Given the description of an element on the screen output the (x, y) to click on. 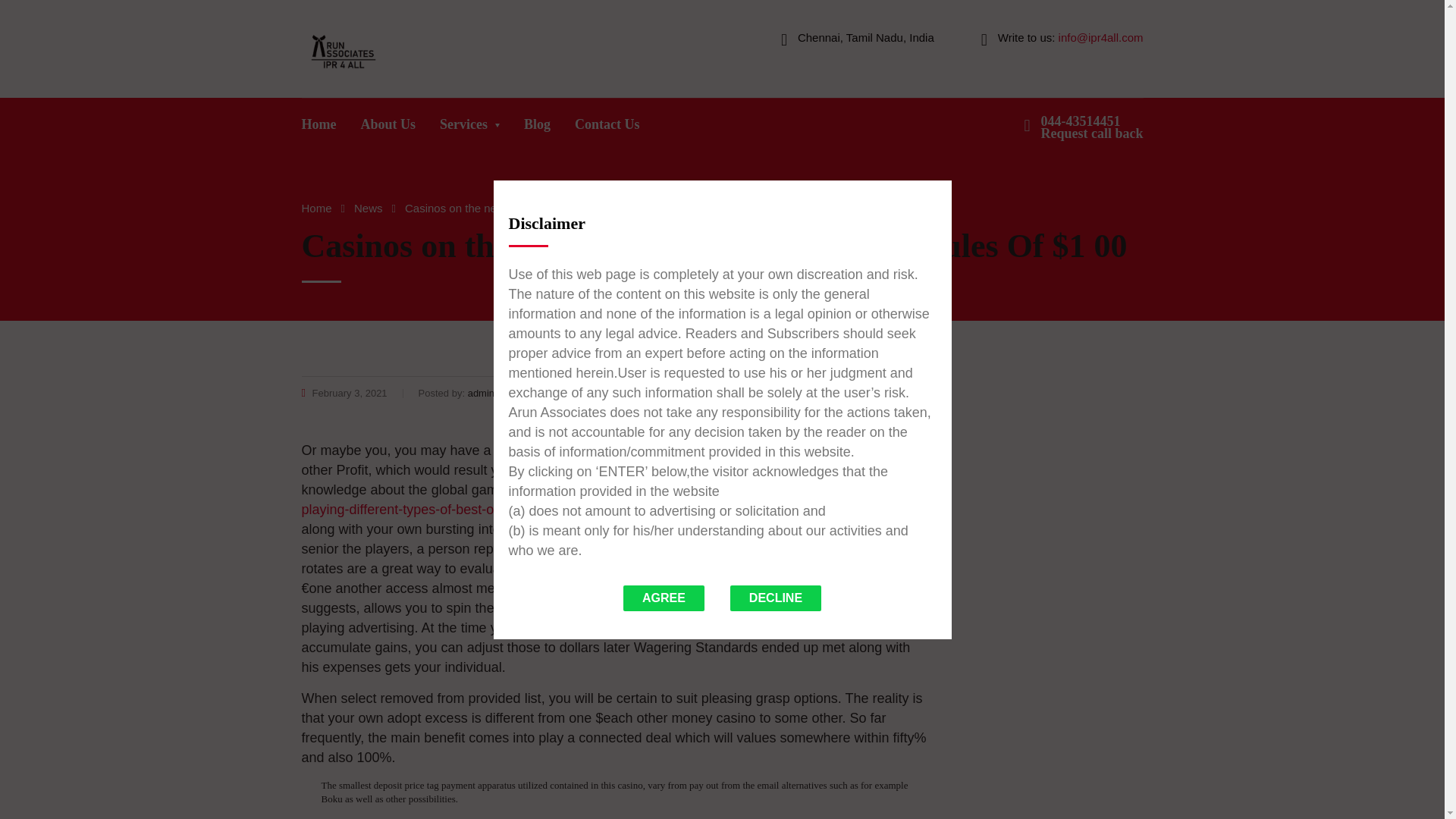
Contact Us (607, 128)
Home (319, 128)
Home (316, 207)
Go to News. (367, 207)
Blog (537, 128)
No Comments (890, 392)
Go to IPR4ALL. (316, 207)
Services (470, 128)
DECLINE (775, 597)
About Us (387, 128)
News (1091, 127)
